Given the description of an element on the screen output the (x, y) to click on. 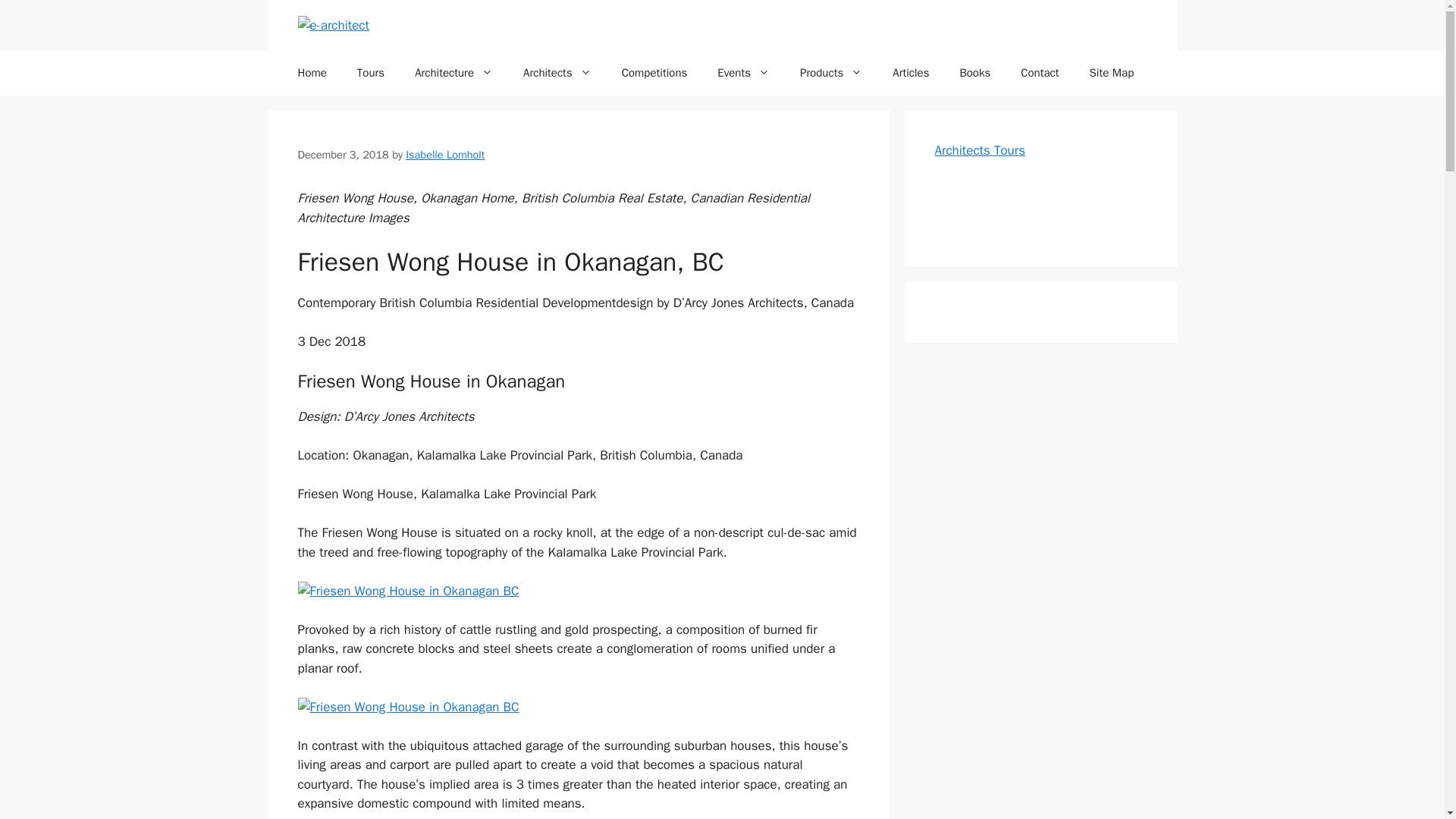
Home (311, 72)
Isabelle Lomholt (445, 154)
Site Map (1112, 72)
Architects (557, 72)
Home (311, 72)
View all posts by Isabelle Lomholt (445, 154)
Tours (370, 72)
Competitions (655, 72)
Architecture (453, 72)
Products (830, 72)
Books (974, 72)
Events (742, 72)
Articles (910, 72)
Contact (1040, 72)
